Given the description of an element on the screen output the (x, y) to click on. 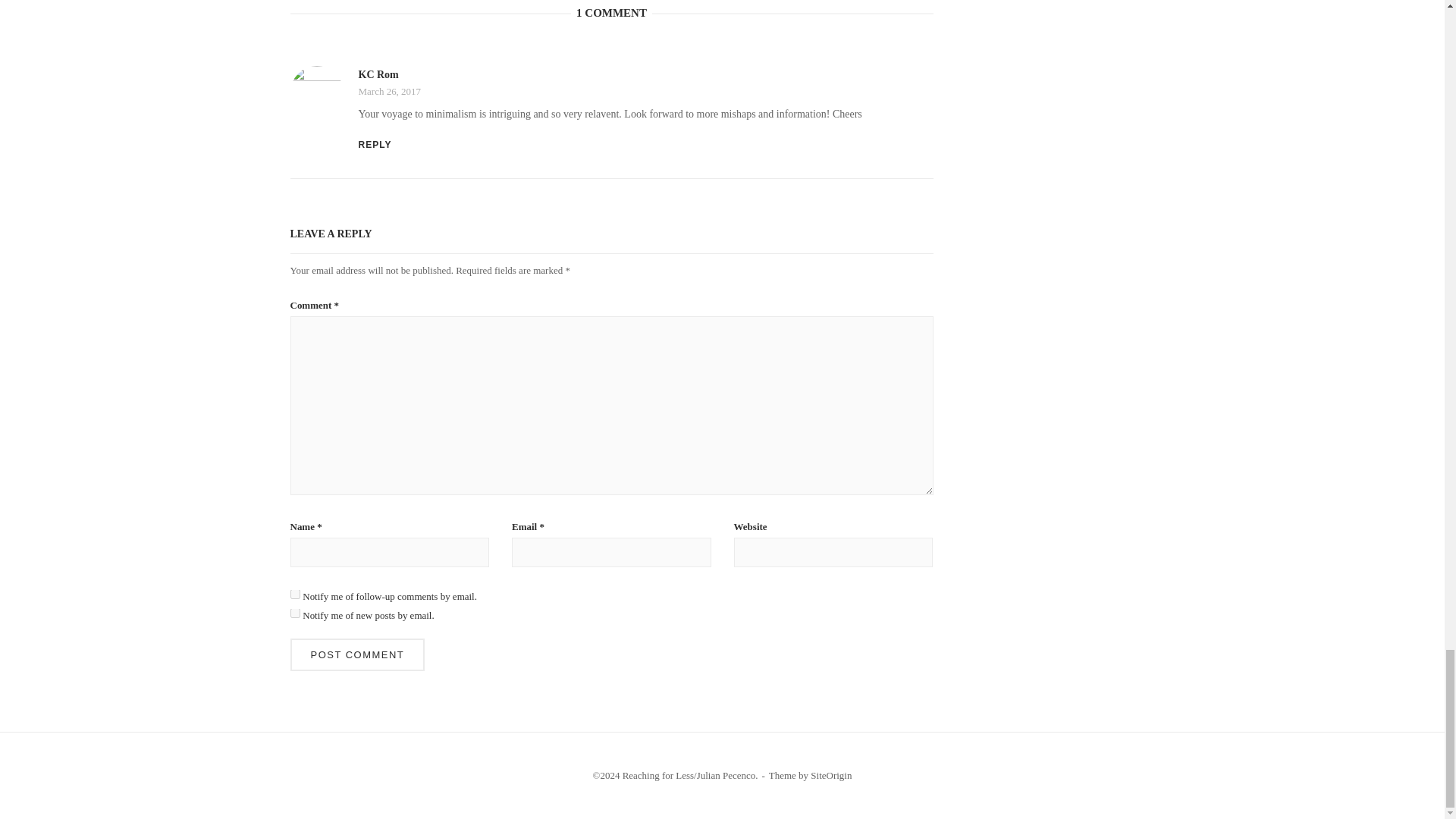
subscribe (294, 613)
REPLY (374, 144)
subscribe (294, 593)
Post Comment (357, 654)
Post Comment (357, 654)
